Given the description of an element on the screen output the (x, y) to click on. 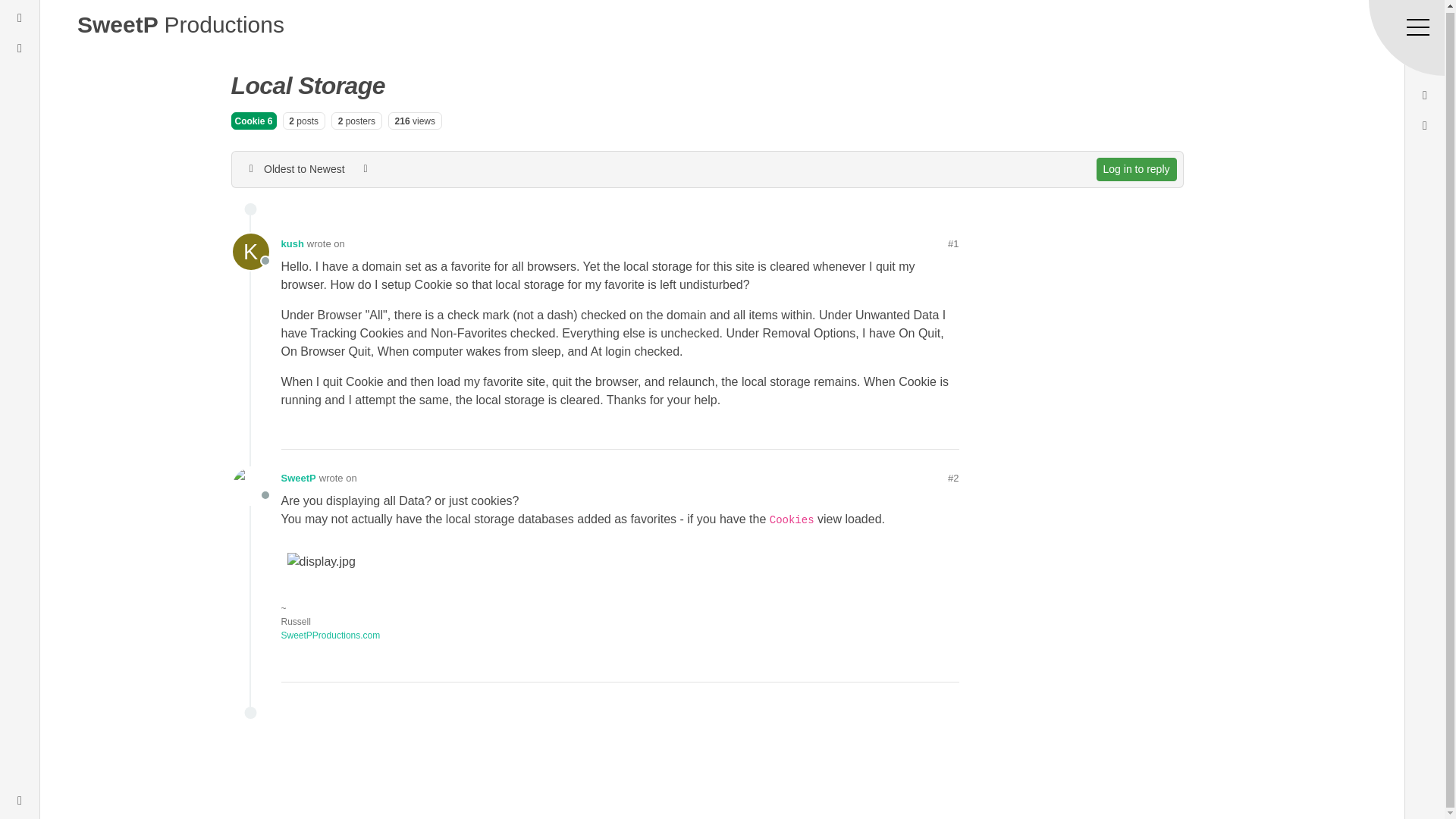
Log in to reply (249, 251)
kush (1136, 169)
Offline (249, 251)
Categories (249, 485)
SweetP Productions (19, 16)
kush (737, 24)
Expand (291, 243)
SweetP (19, 799)
216 (298, 478)
